Given the description of an element on the screen output the (x, y) to click on. 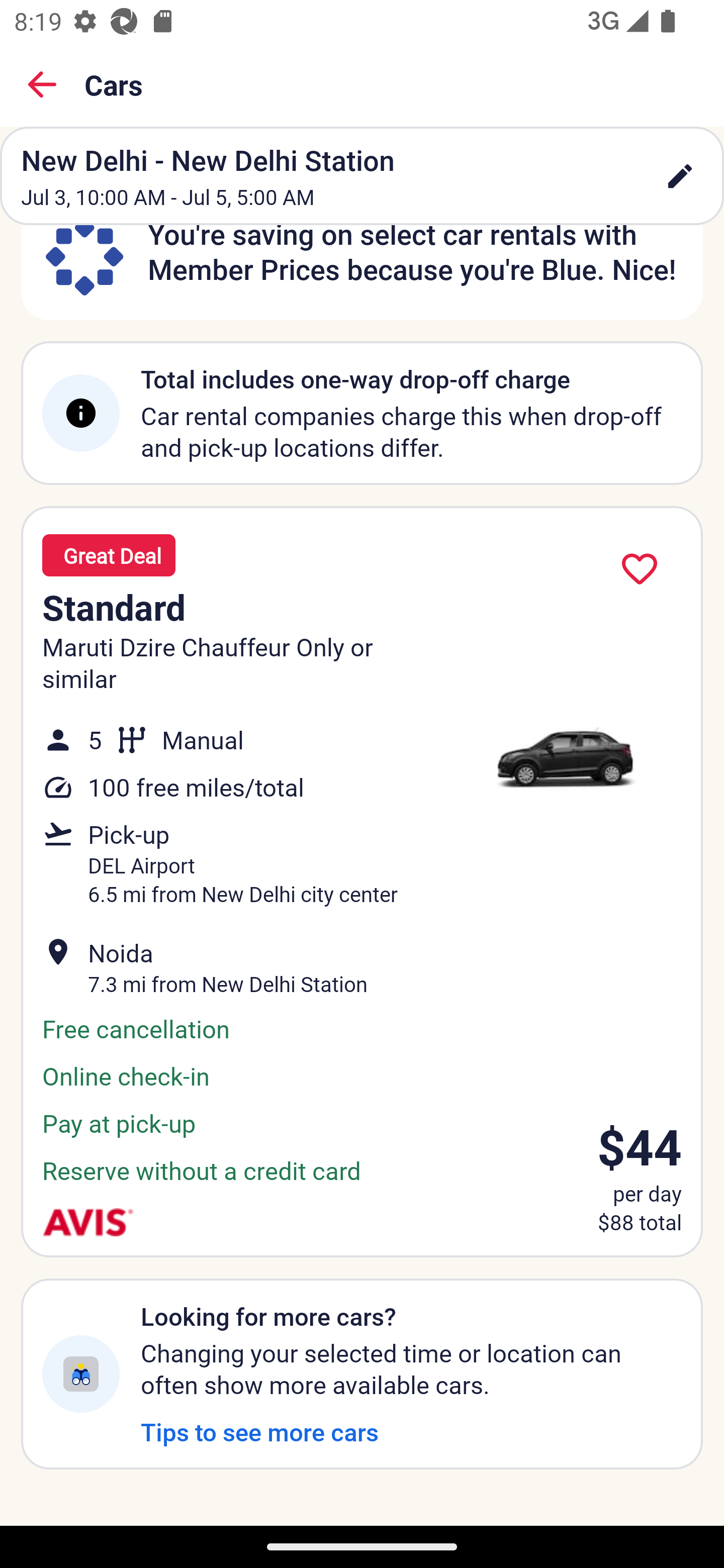
Back (42, 84)
edit (679, 175)
Tips to see more cars Tips to see more cars Link (259, 1431)
